Given the description of an element on the screen output the (x, y) to click on. 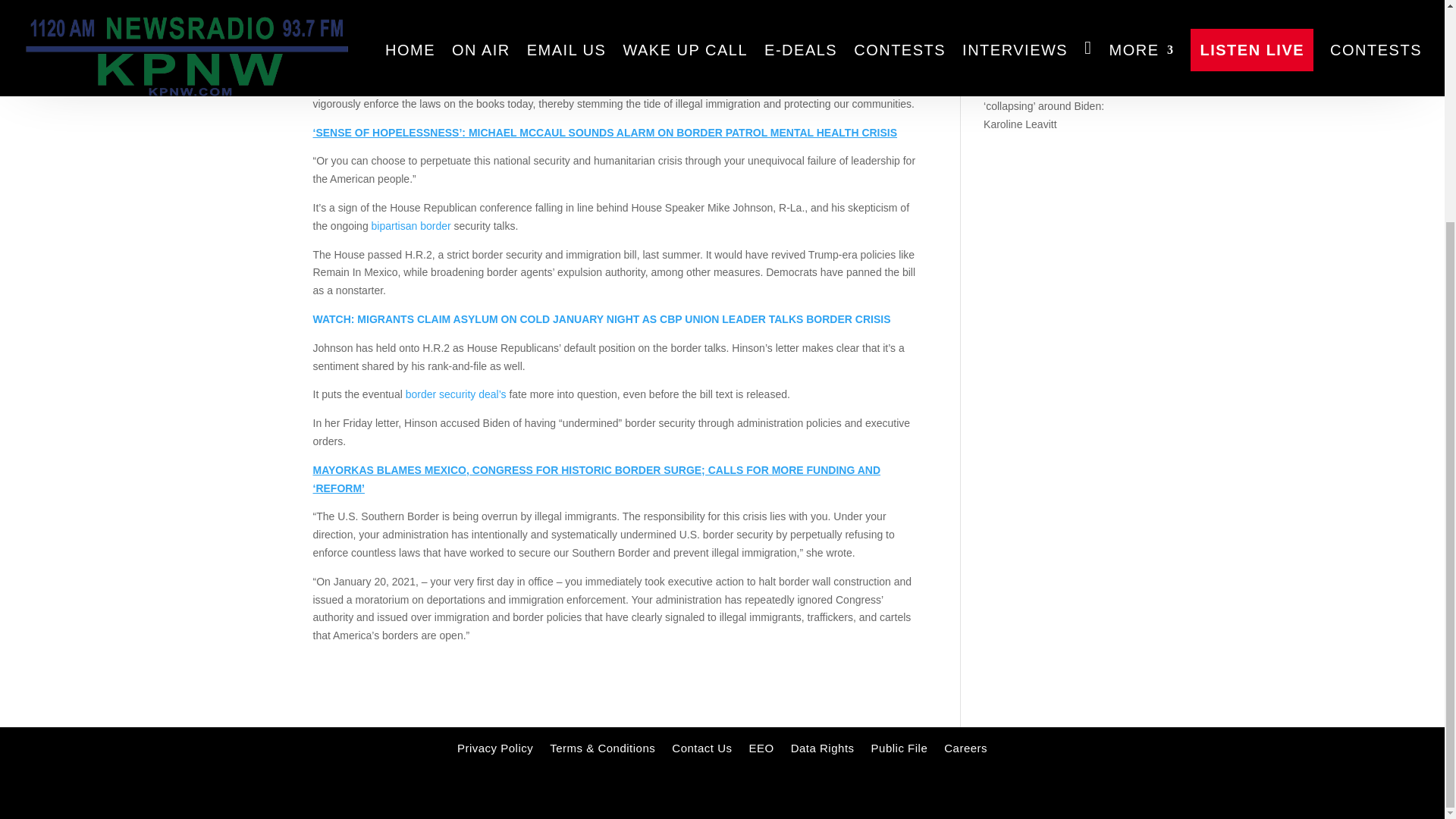
bipartisan border (411, 225)
